Given the description of an element on the screen output the (x, y) to click on. 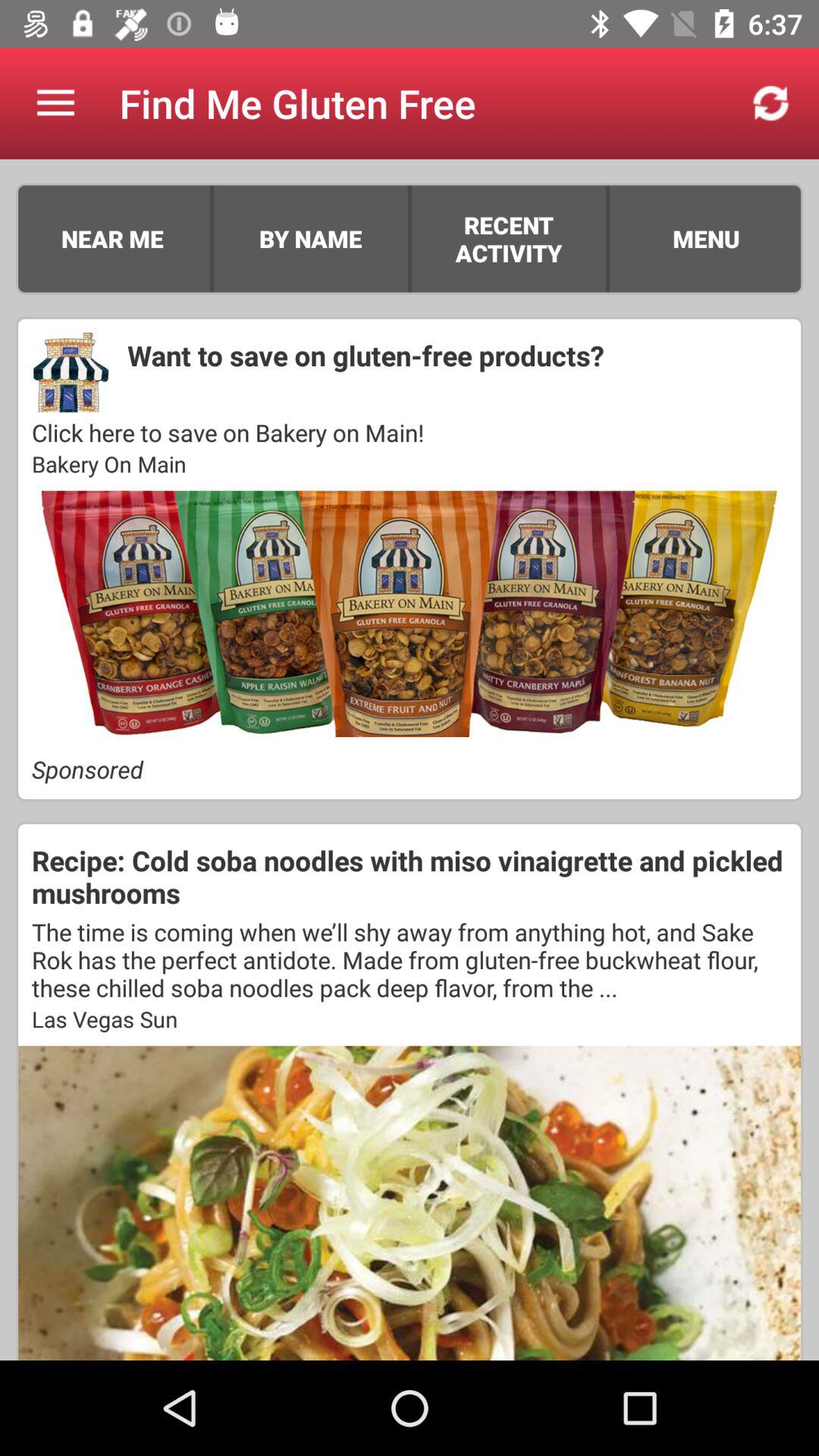
turn on the sponsored item (409, 769)
